Given the description of an element on the screen output the (x, y) to click on. 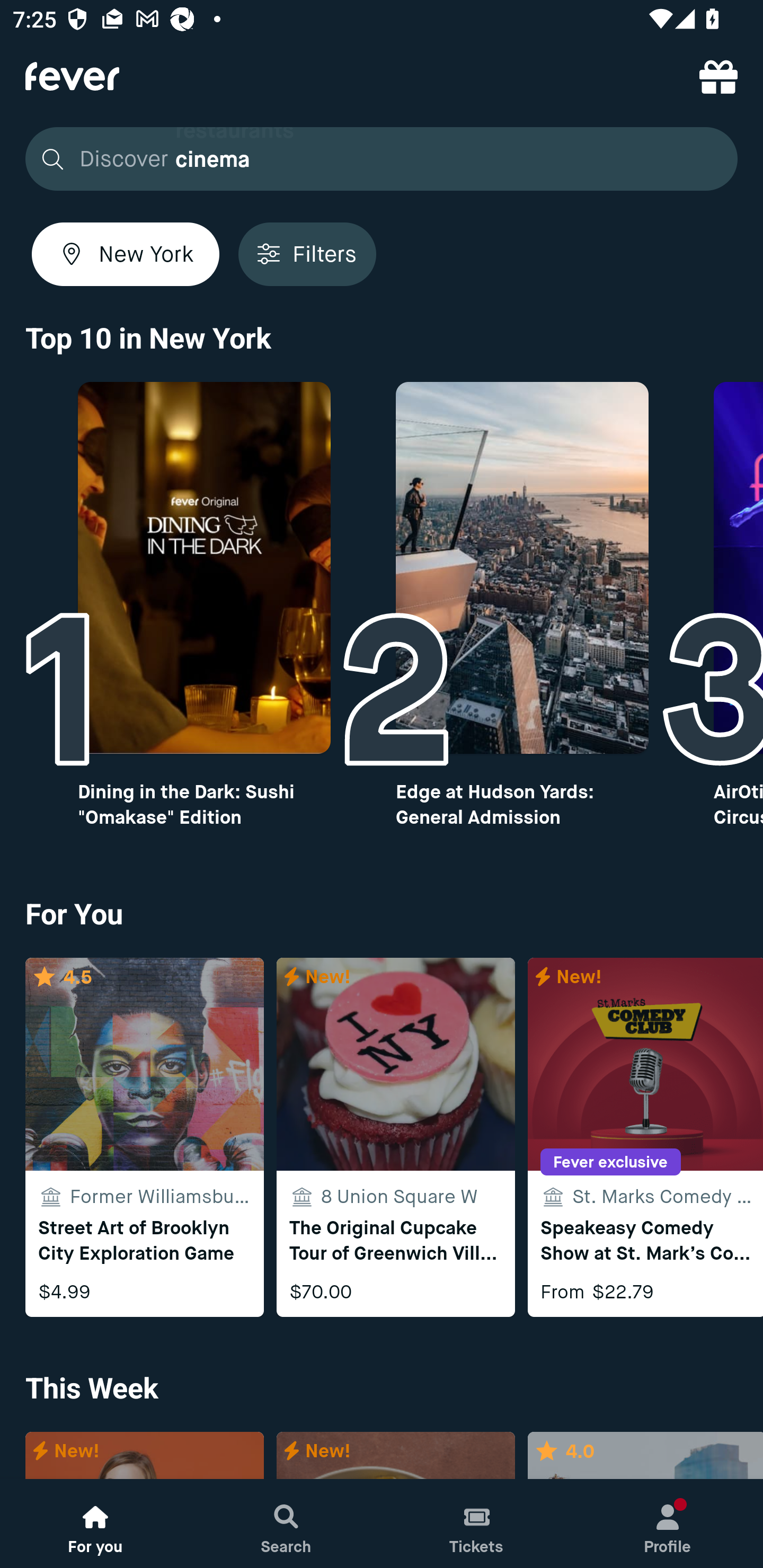
referral (718, 75)
Discover restaurants cinema (381, 158)
Discover restaurants cinema (376, 158)
New York (125, 253)
Filters (307, 253)
Top10 image (203, 568)
Top10 image (521, 568)
Search (285, 1523)
Tickets (476, 1523)
Profile, New notification Profile (667, 1523)
